Given the description of an element on the screen output the (x, y) to click on. 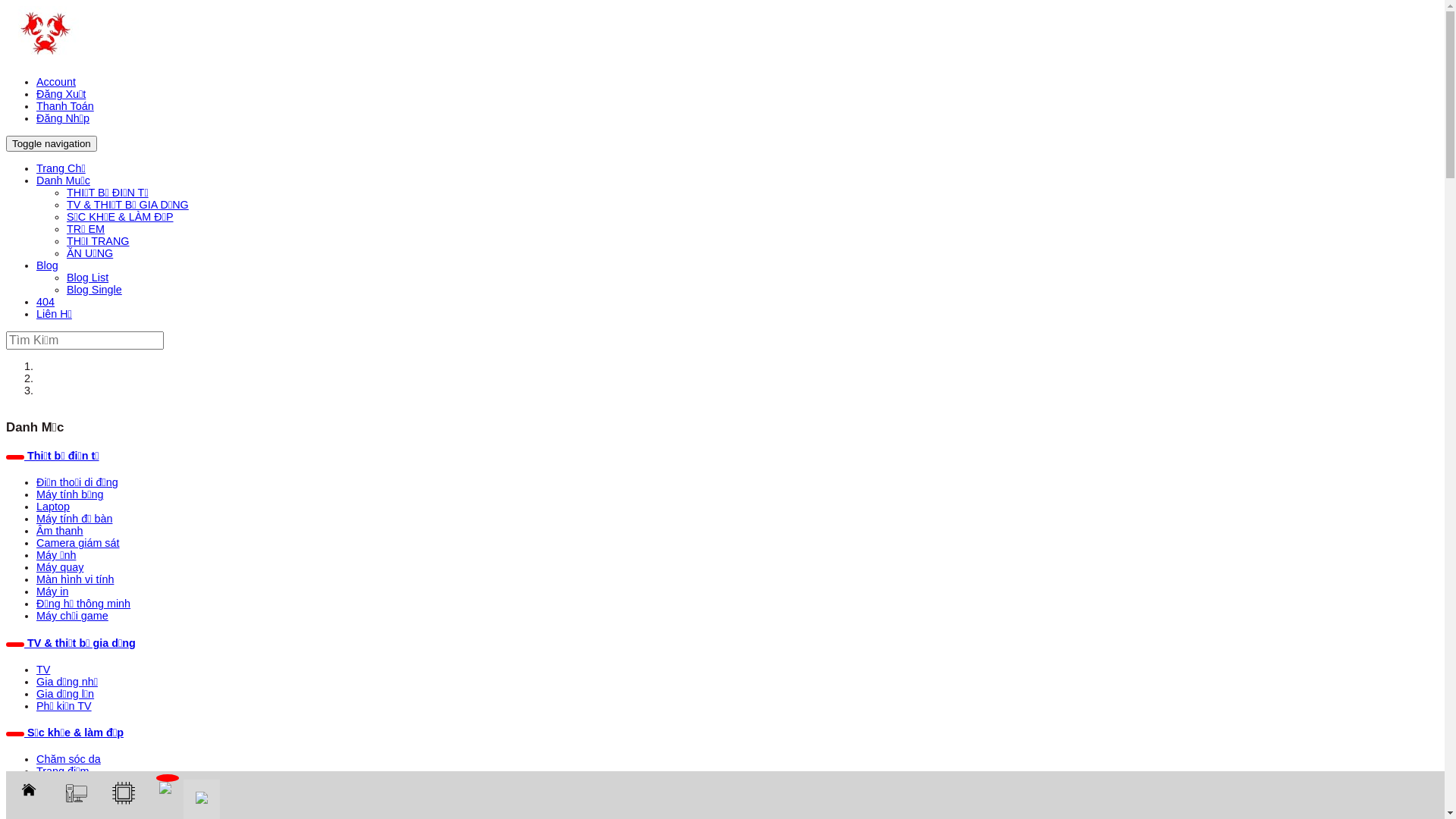
Blog List Element type: text (87, 277)
Account Element type: text (55, 81)
TV Element type: text (43, 669)
Laptop Element type: text (52, 506)
404 Element type: text (45, 301)
Blog Single Element type: text (94, 289)
Toggle navigation Element type: text (51, 143)
Blog Element type: text (47, 265)
